Given the description of an element on the screen output the (x, y) to click on. 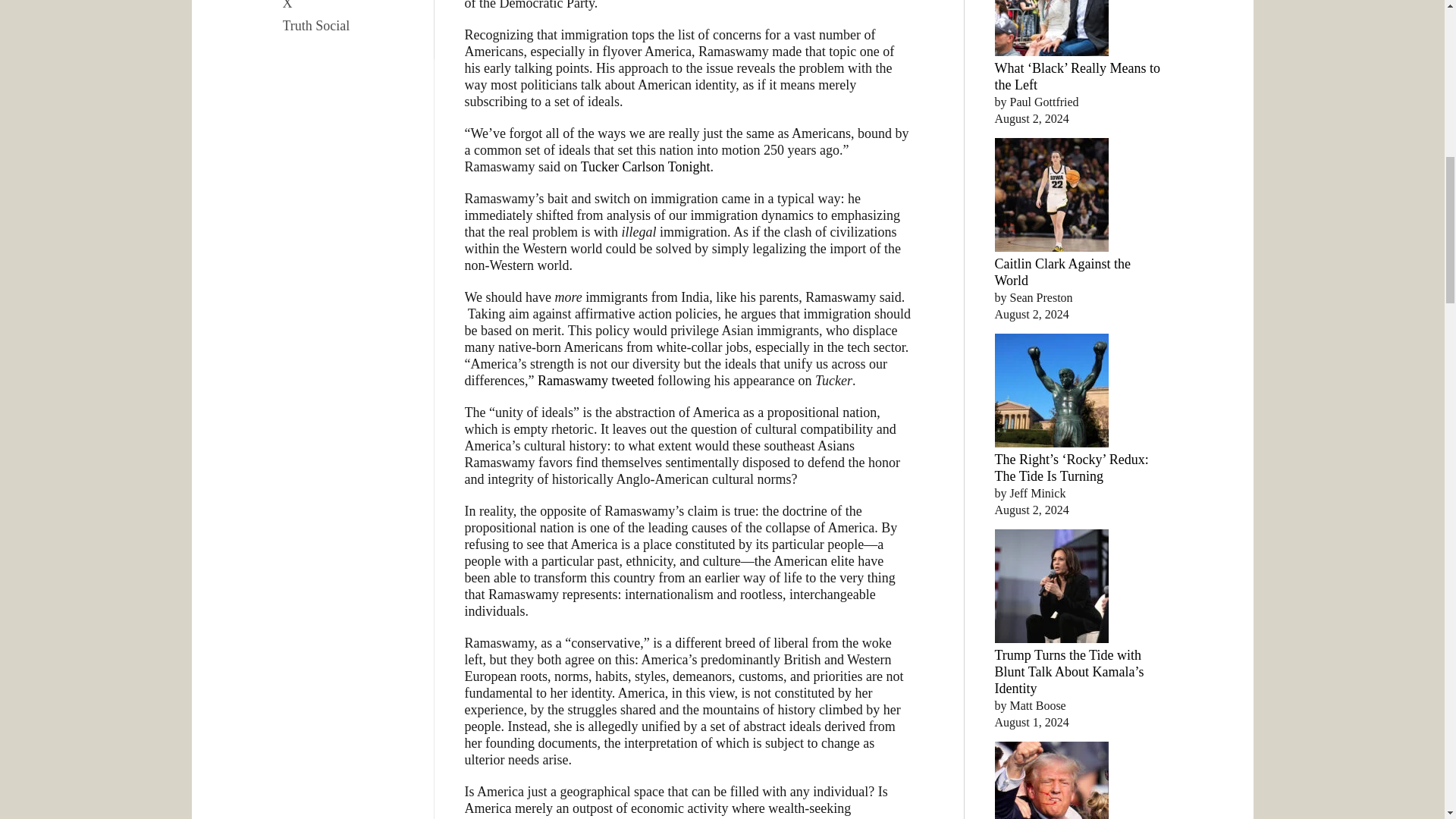
Caitlin Clark Against the World (1062, 272)
Tucker Carlson Tonight (645, 166)
Truth Social (349, 25)
Ramaswamy tweeted (595, 380)
X (349, 6)
